Given the description of an element on the screen output the (x, y) to click on. 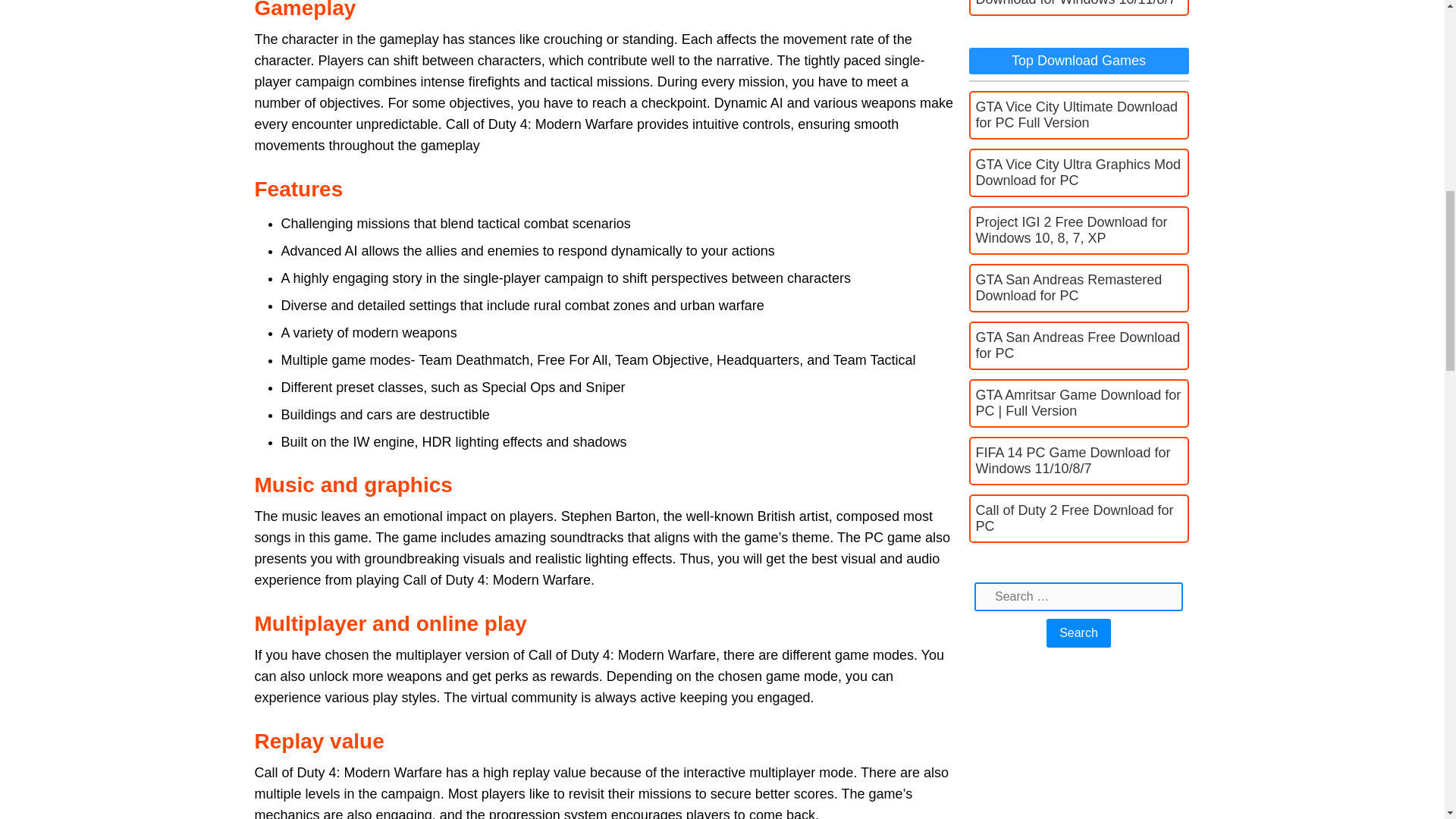
Search (1078, 633)
Search (1078, 633)
